Given the description of an element on the screen output the (x, y) to click on. 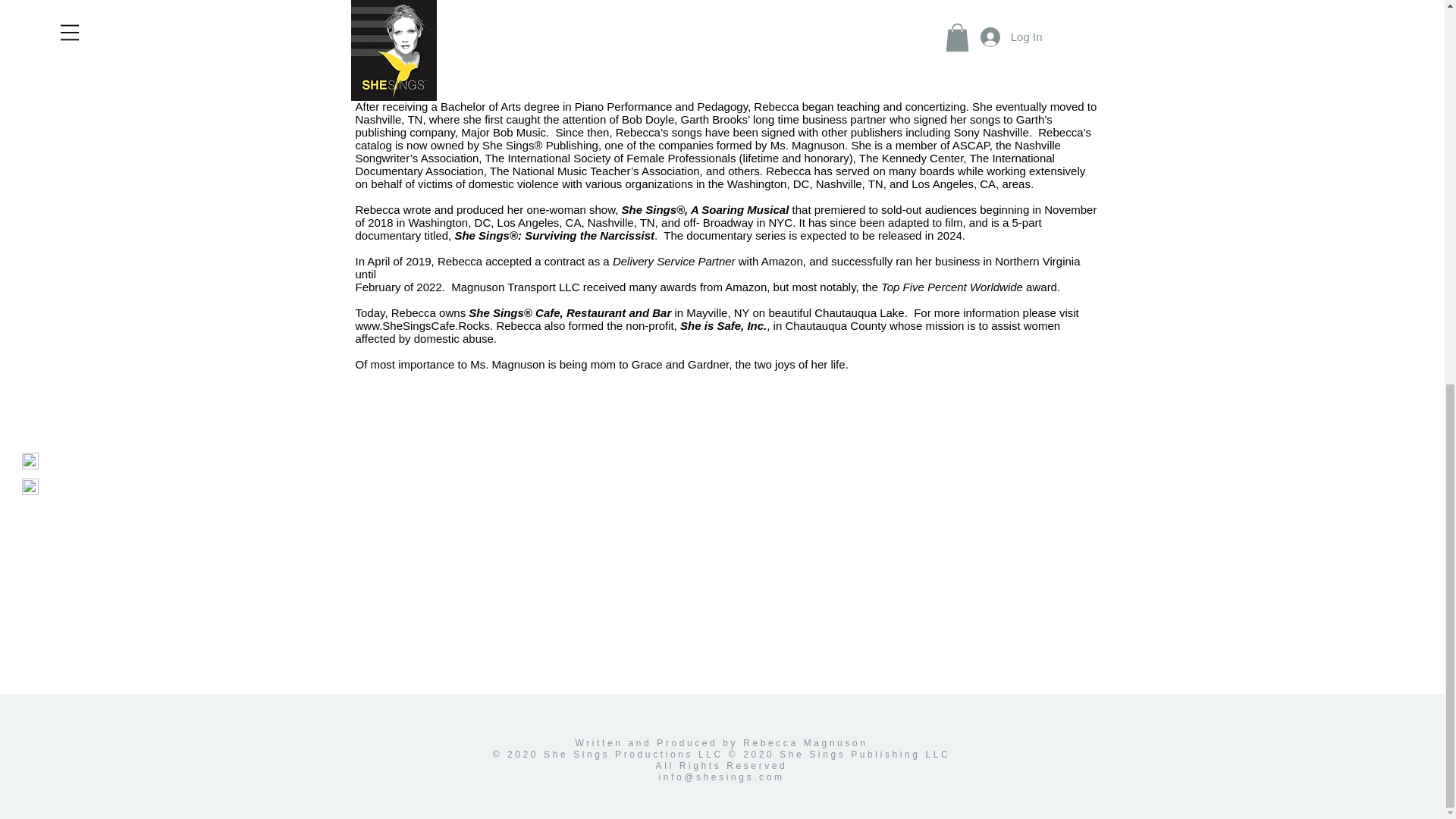
External YouTube (911, 588)
www.SheSingsCafe.Rocks (422, 325)
External YouTube (532, 588)
